Given the description of an element on the screen output the (x, y) to click on. 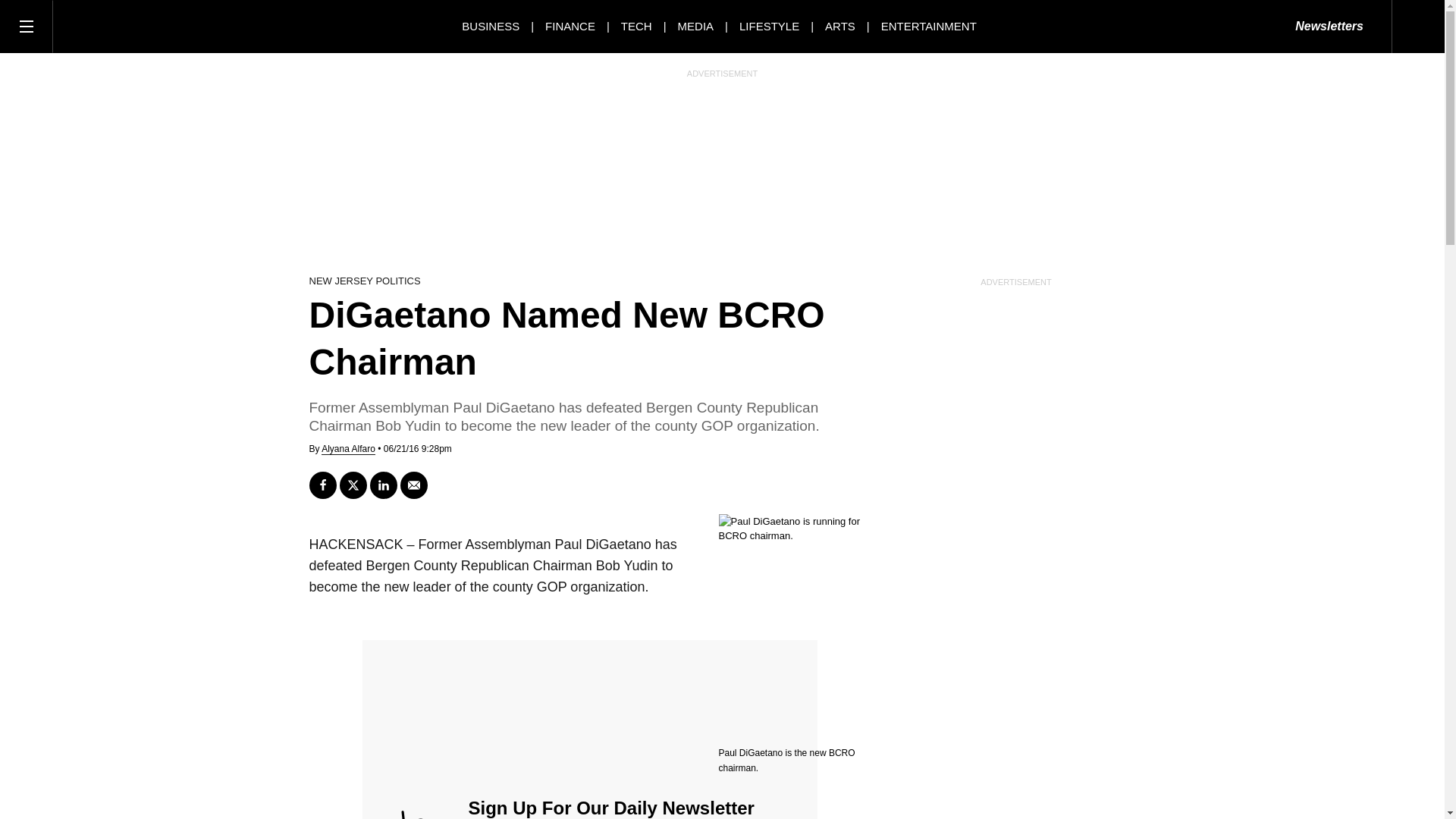
ARTS (840, 25)
TECH (636, 25)
BUSINESS (490, 25)
Share on Facebook (322, 484)
MEDIA (696, 25)
FINANCE (569, 25)
Observer (121, 26)
ENTERTAINMENT (928, 25)
Share on LinkedIn (383, 484)
Tweet (352, 484)
